Given the description of an element on the screen output the (x, y) to click on. 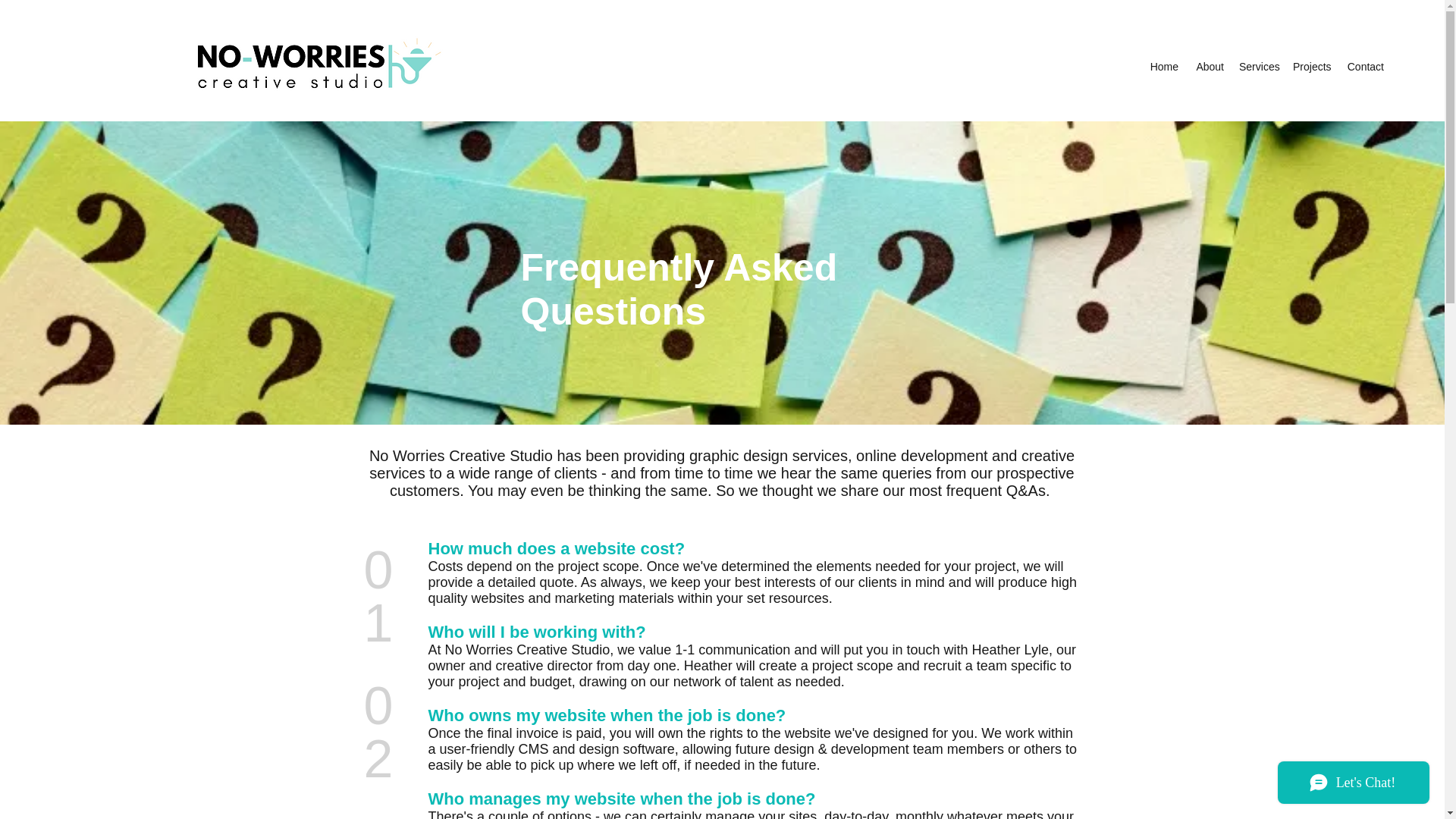
Contact (1364, 66)
About (1208, 66)
Projects (1311, 66)
Services (1258, 66)
Home (1163, 66)
